Given the description of an element on the screen output the (x, y) to click on. 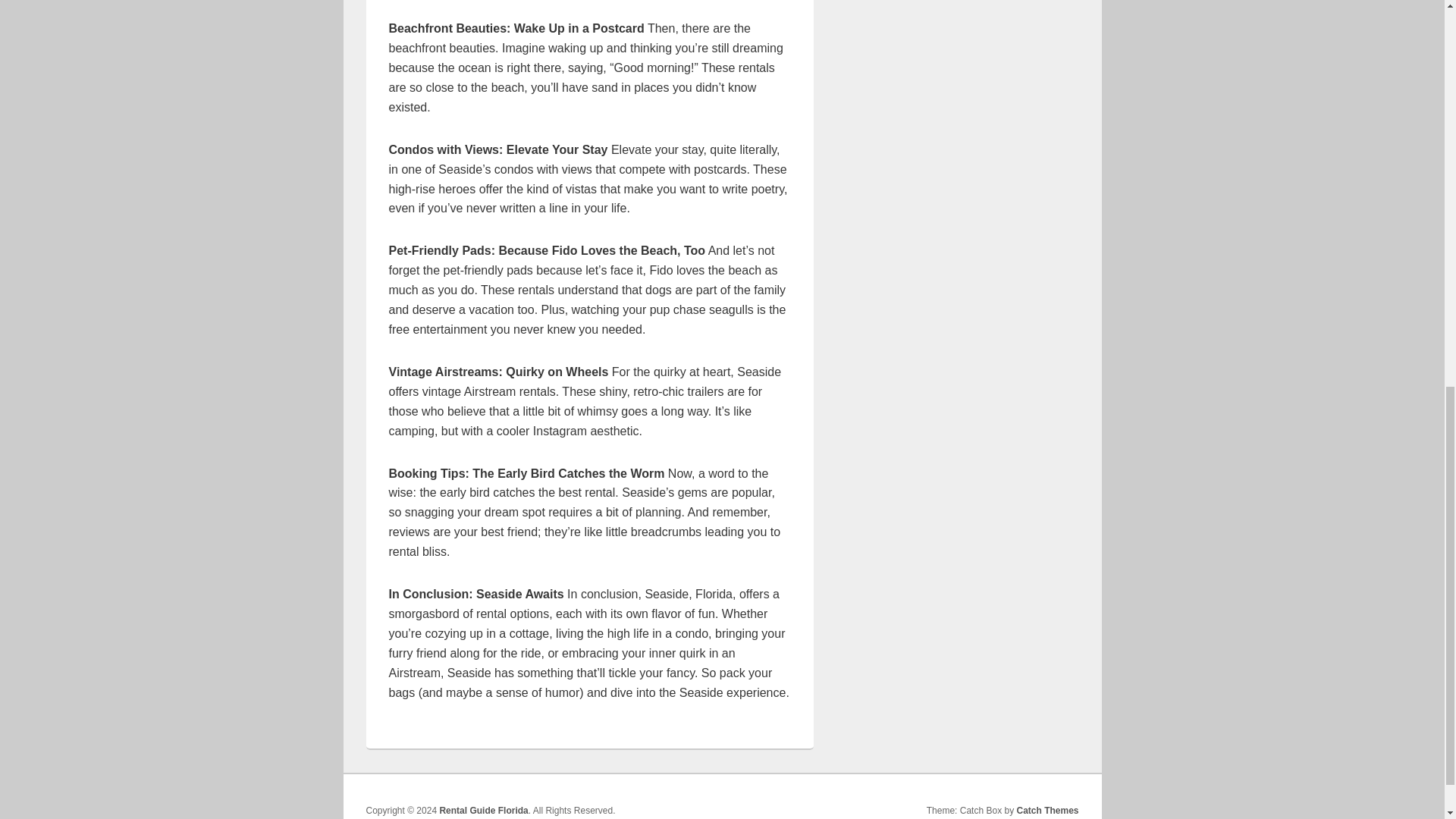
Catch Themes (1047, 810)
Catch Themes (1047, 810)
Rental Guide Florida (483, 810)
Rental Guide Florida (483, 810)
